Given the description of an element on the screen output the (x, y) to click on. 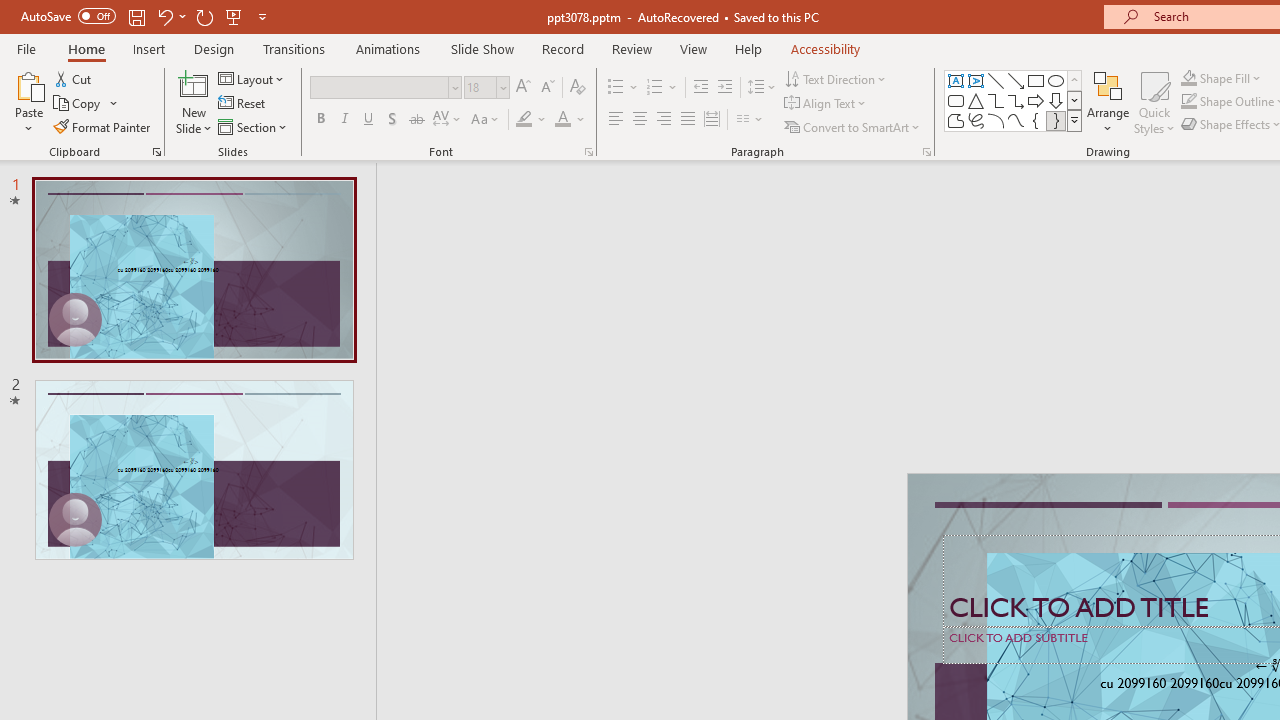
Justify (687, 119)
Line Spacing (762, 87)
Section (254, 126)
Copy (78, 103)
Bullets (623, 87)
New Slide (193, 102)
Text Highlight Color (531, 119)
Bullets (616, 87)
Accessibility (825, 48)
Distributed (712, 119)
Change Case (486, 119)
Isosceles Triangle (975, 100)
Rectangle (1035, 80)
